Given the description of an element on the screen output the (x, y) to click on. 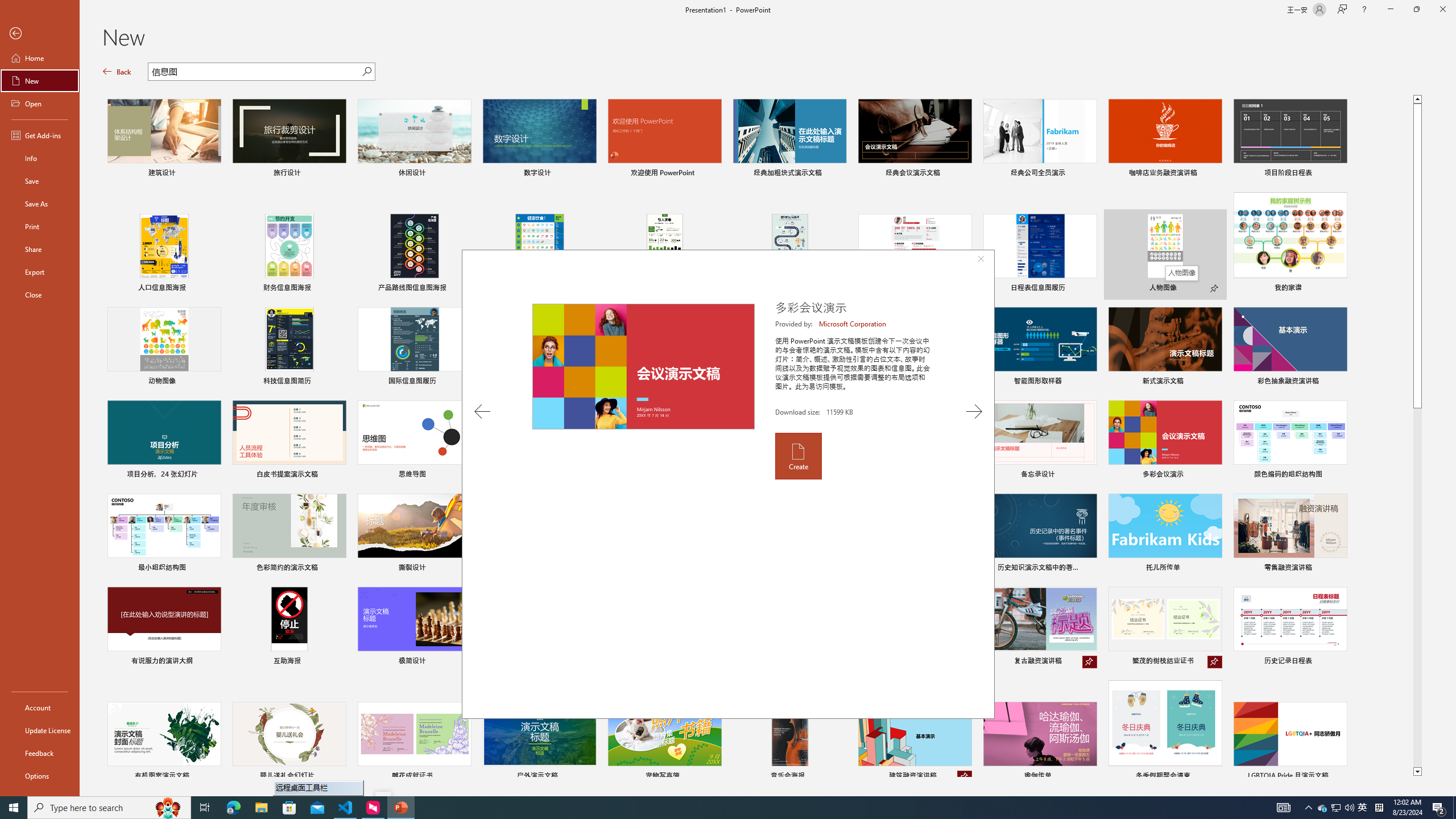
Save As (40, 203)
